Given the description of an element on the screen output the (x, y) to click on. 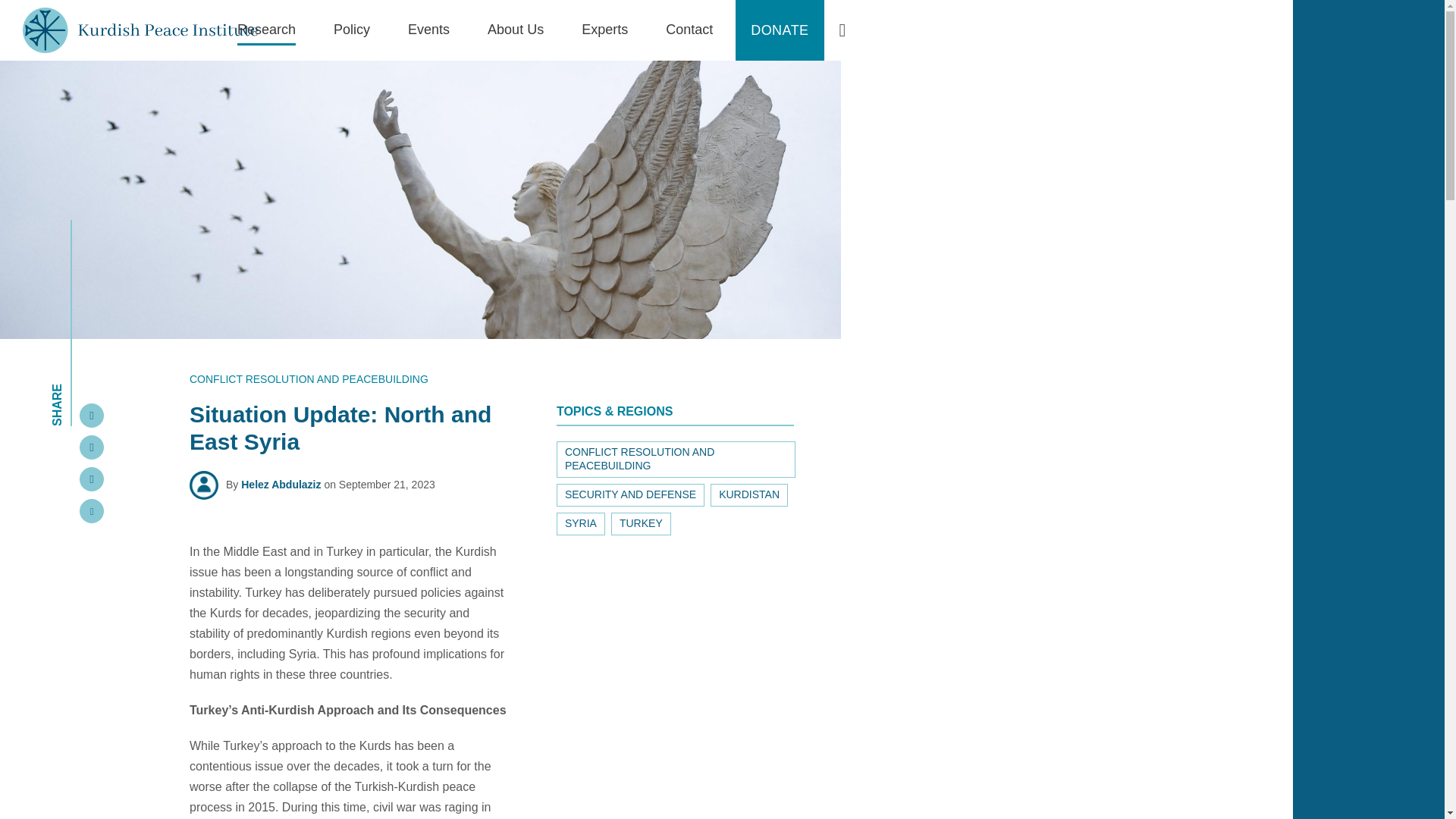
Policy (351, 40)
Research (266, 40)
